Given the description of an element on the screen output the (x, y) to click on. 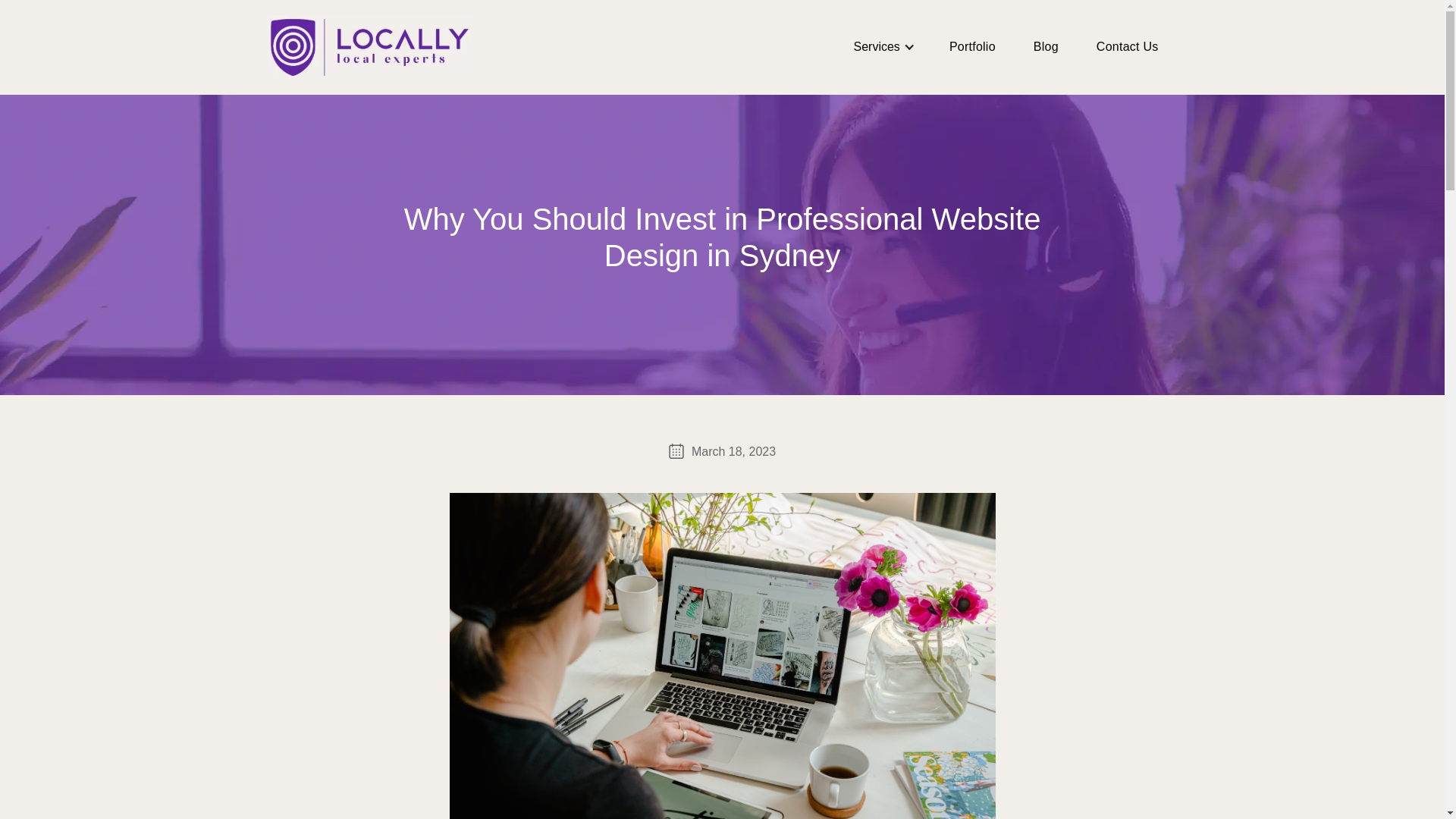
Portfolio (972, 46)
Contact Us (1127, 46)
Blog (1045, 46)
